Given the description of an element on the screen output the (x, y) to click on. 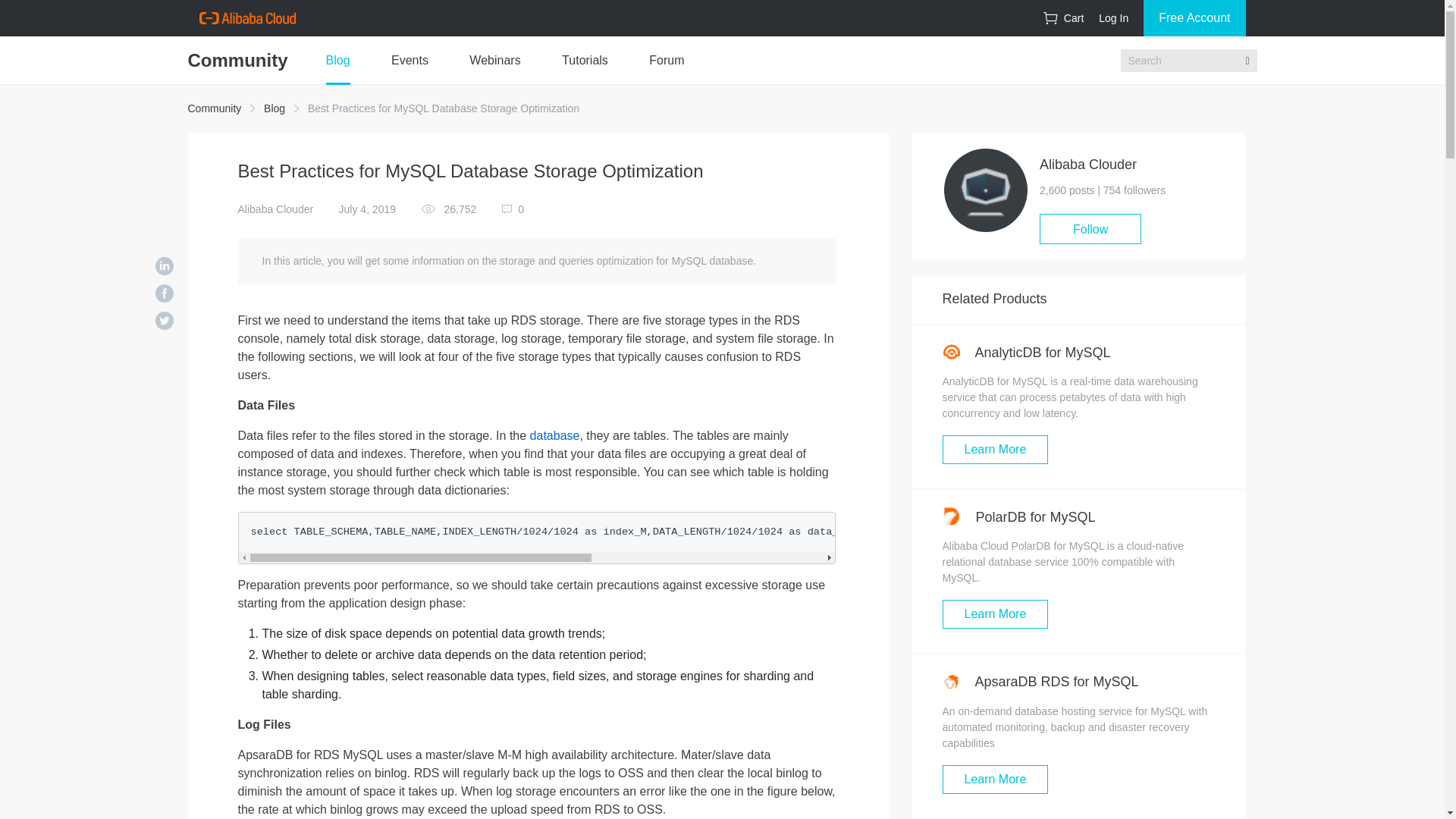
Community (214, 108)
Log In (1112, 17)
0 (512, 209)
Webinars (493, 60)
Free Account (1193, 18)
Tutorials (585, 60)
database (554, 435)
Alibaba Clouder (276, 209)
  Cart (1062, 17)
Blog (274, 108)
AliCloud (246, 18)
